Given the description of an element on the screen output the (x, y) to click on. 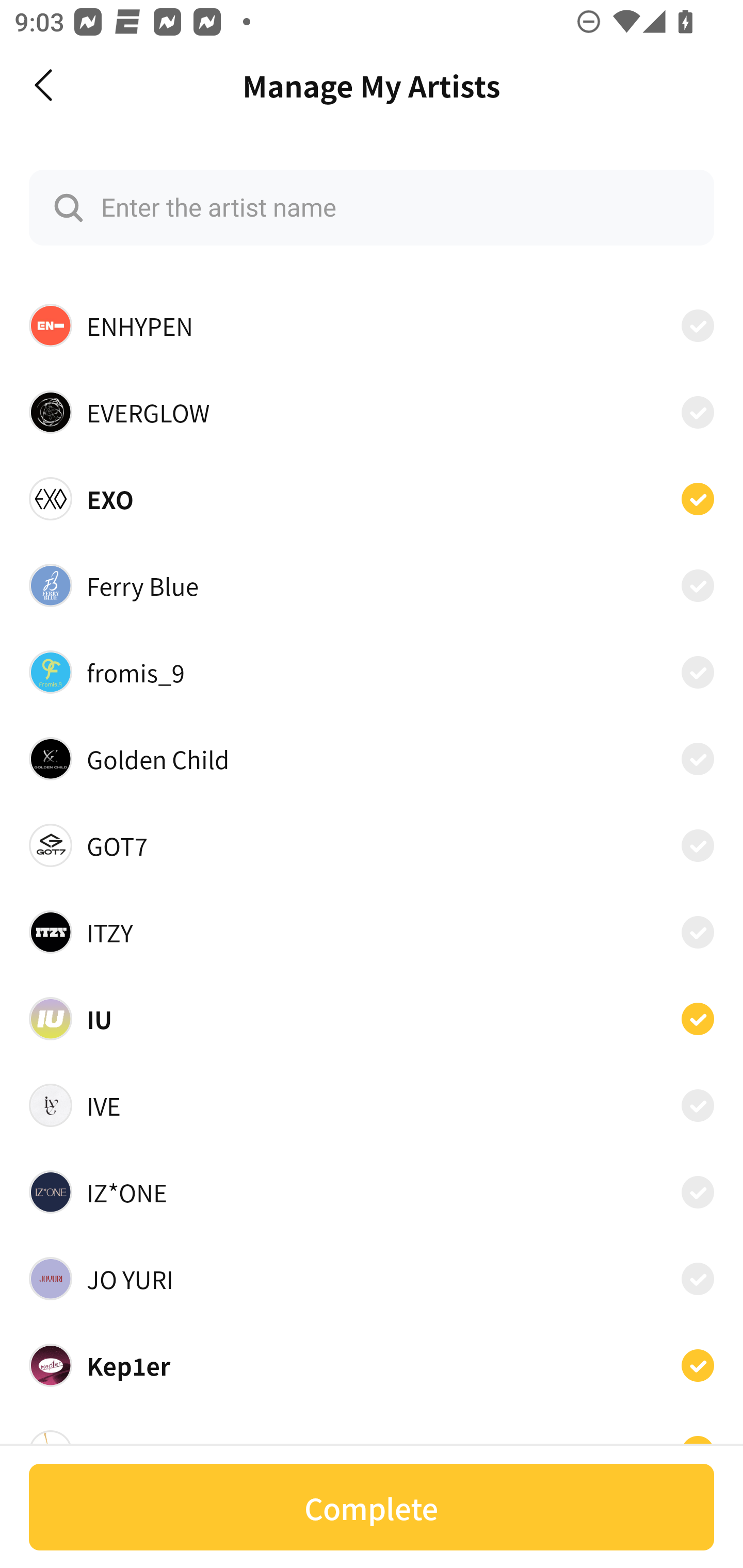
Enter the artist name (371, 207)
ENHYPEN (371, 325)
EVERGLOW (371, 412)
EXO (371, 498)
Ferry Blue (371, 585)
fromis_9 (371, 671)
Golden Child (371, 758)
GOT7 (371, 845)
ITZY (371, 932)
IU (371, 1018)
IVE (371, 1105)
IZ*ONE (371, 1191)
JO YURI (371, 1278)
Kep1er (371, 1365)
Complete (371, 1507)
